Given the description of an element on the screen output the (x, y) to click on. 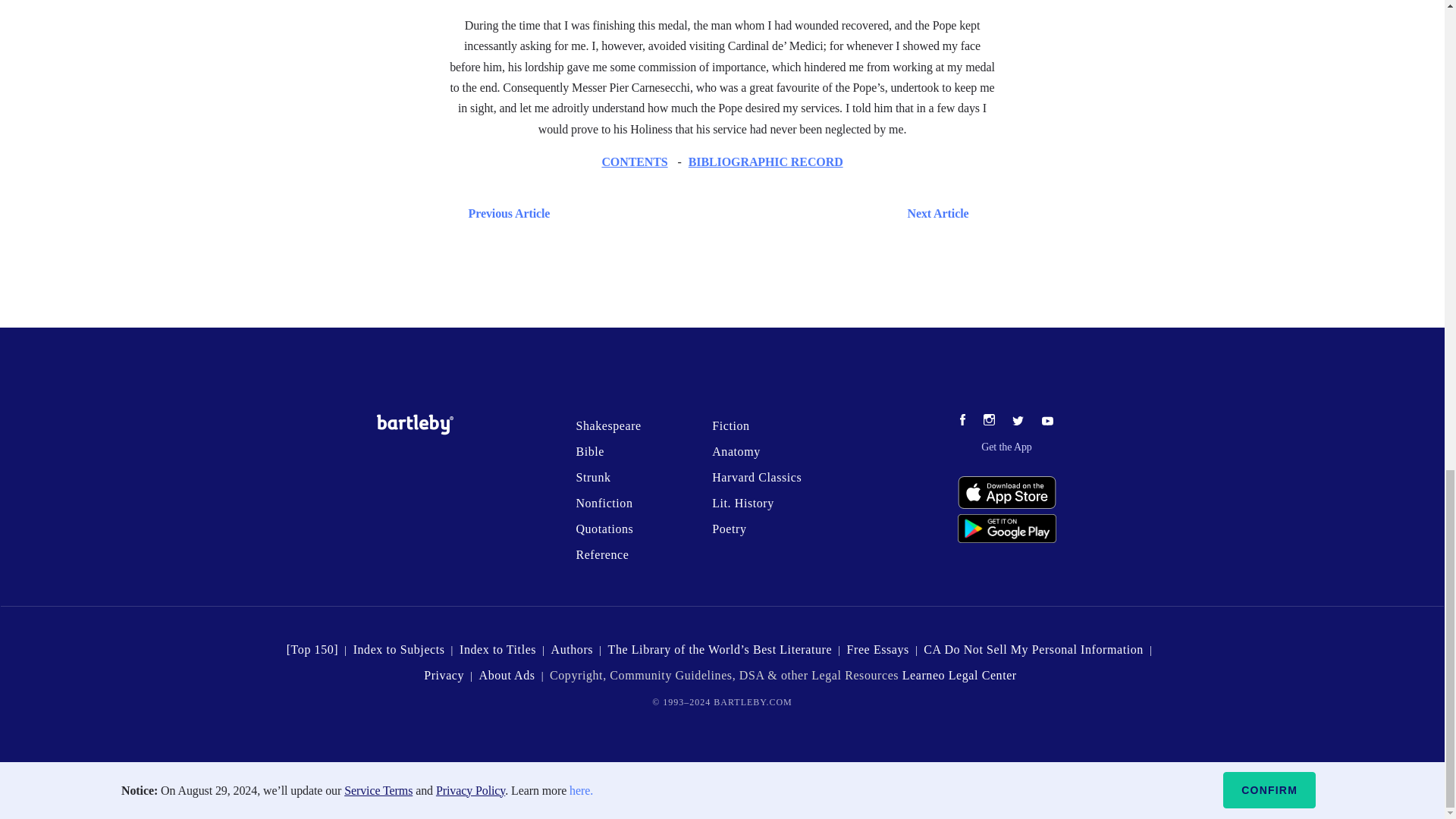
Nonfiction (603, 502)
BIBLIOGRAPHIC RECORD (765, 161)
Quotations (604, 528)
CONTENTS (633, 161)
Fiction (730, 425)
Shakespeare (607, 425)
Lit. History (742, 502)
Anatomy (735, 451)
Harvard Classics (756, 477)
Strunk (592, 477)
